Given the description of an element on the screen output the (x, y) to click on. 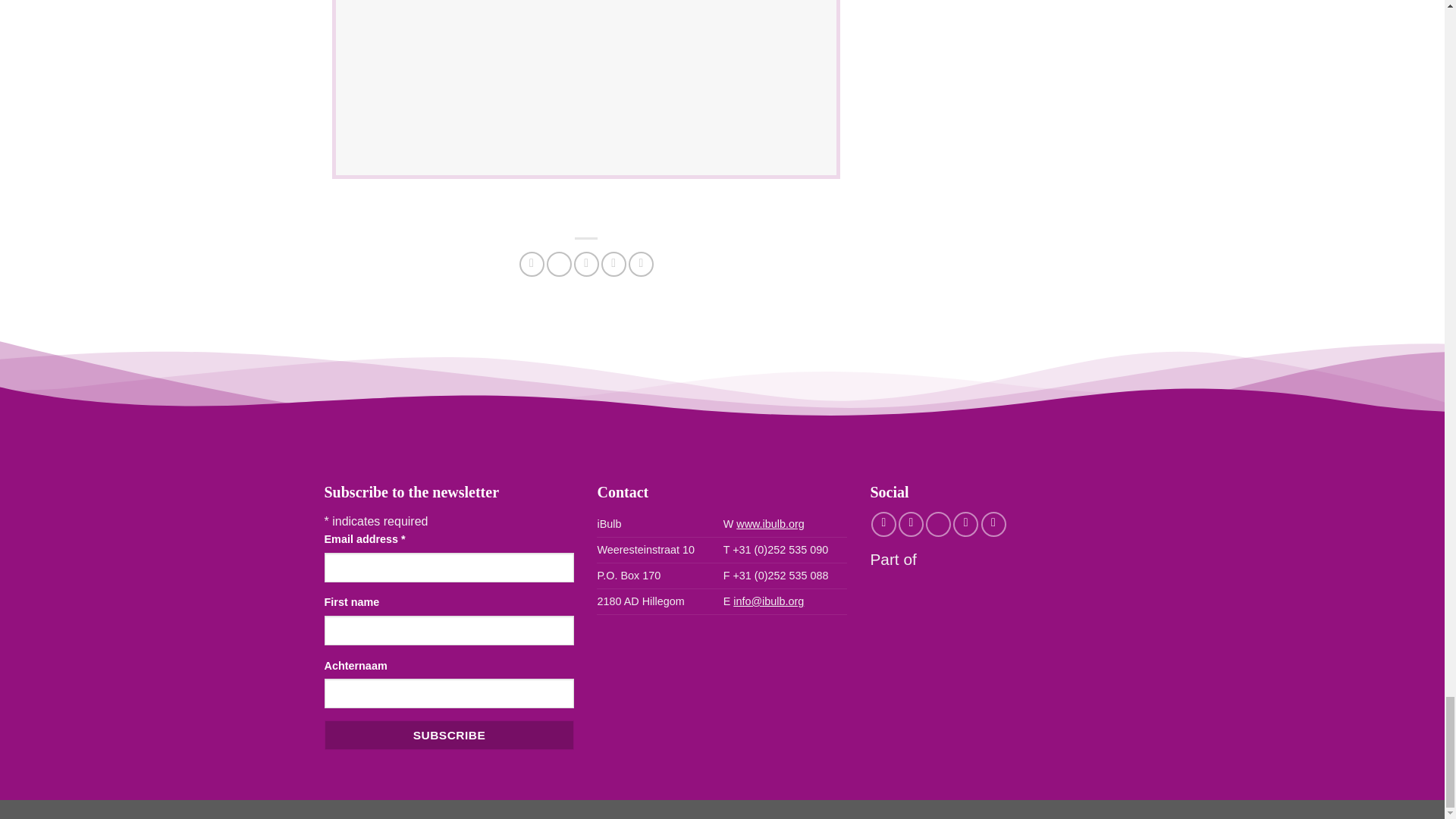
Pin on Pinterest (613, 263)
Share on Facebook (531, 263)
Share on X (559, 263)
Subscribe (449, 735)
Follow on YouTube (993, 524)
www.ibulb.org (770, 523)
Email to a Friend (585, 263)
Follow on Facebook (883, 524)
Follow on Pinterest (965, 524)
Share on LinkedIn (640, 263)
Subscribe (449, 735)
Follow on X (938, 524)
Follow on Instagram (910, 524)
